Given the description of an element on the screen output the (x, y) to click on. 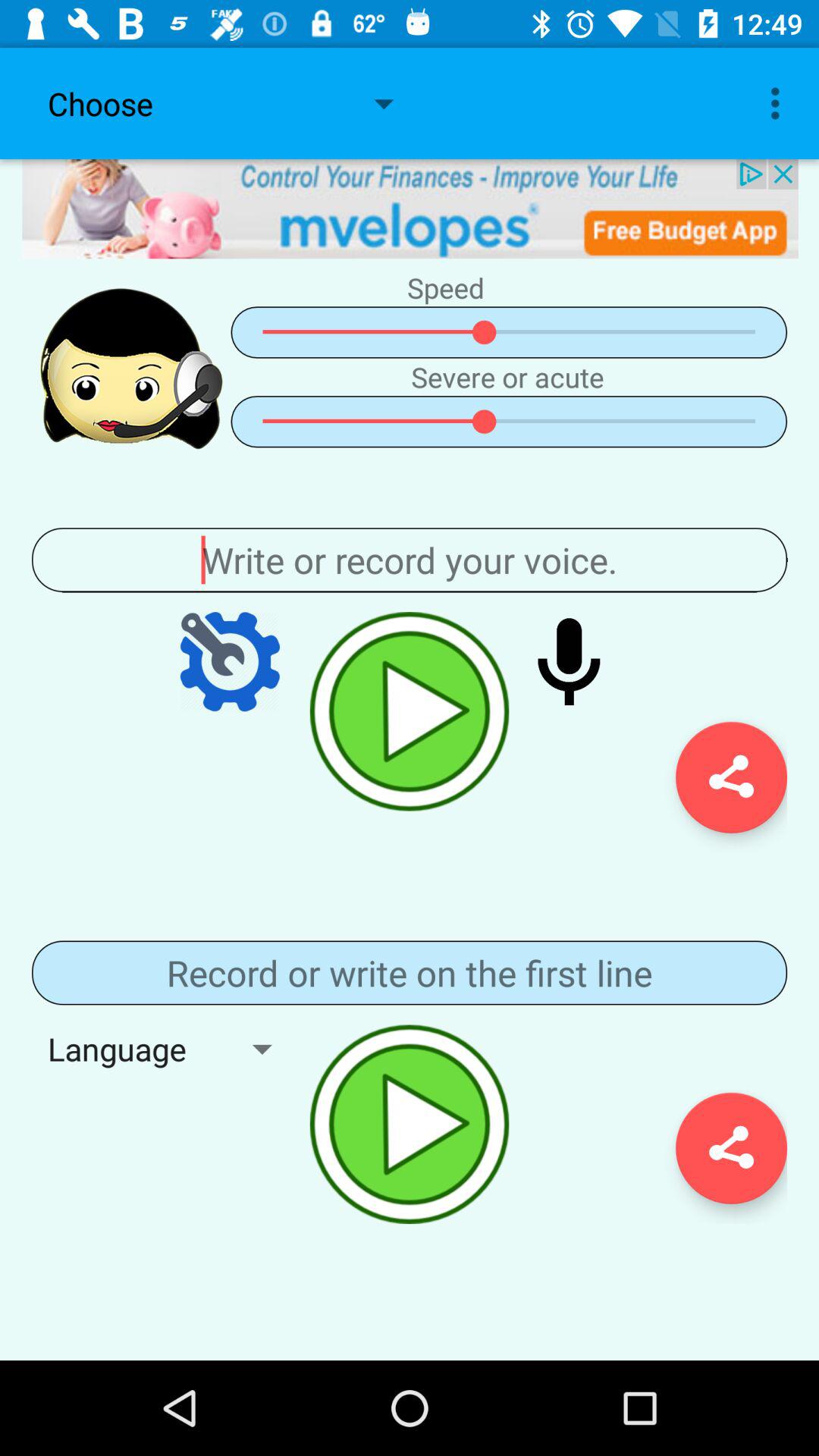
play (409, 711)
